Given the description of an element on the screen output the (x, y) to click on. 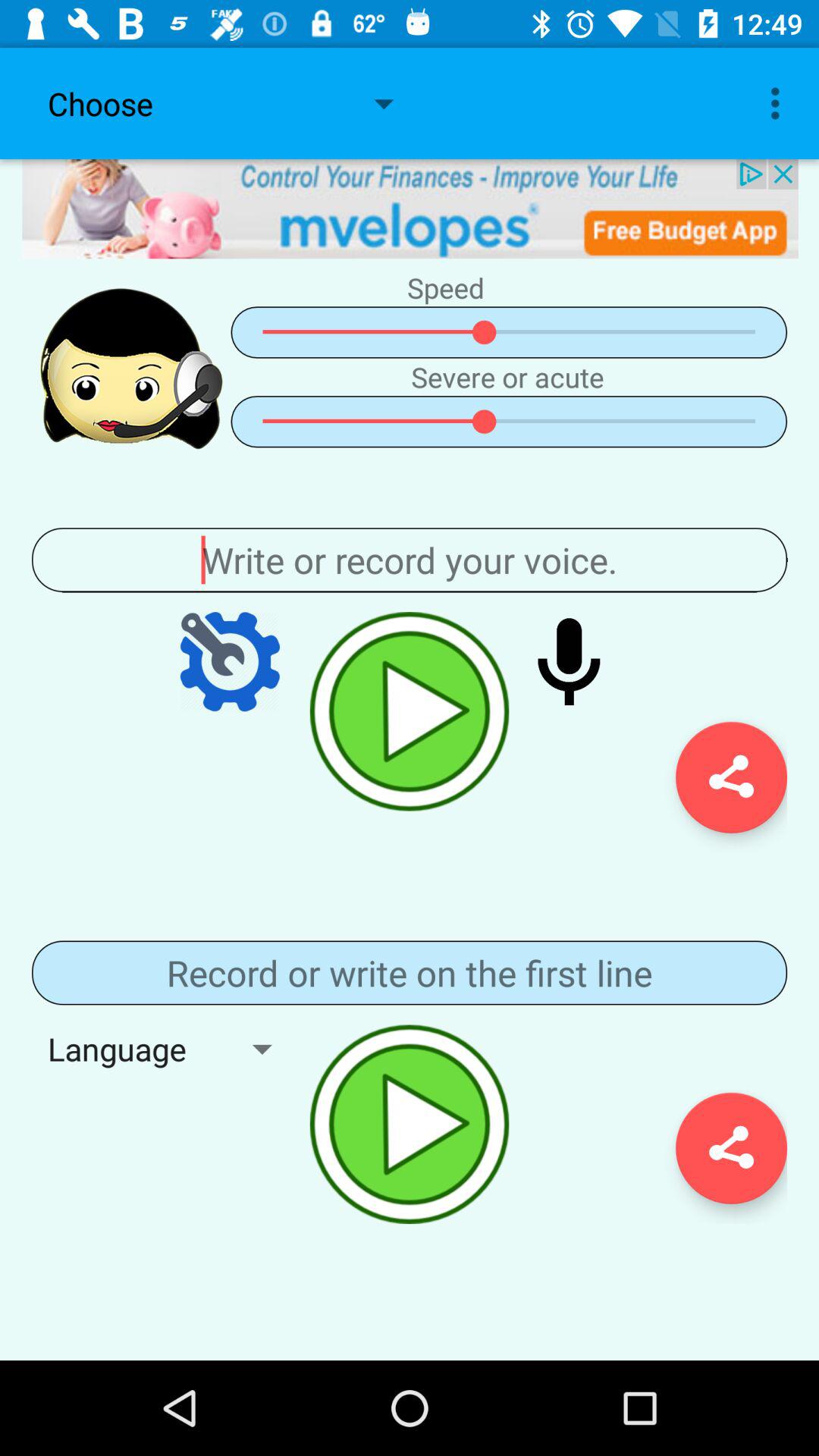
play (409, 711)
